Given the description of an element on the screen output the (x, y) to click on. 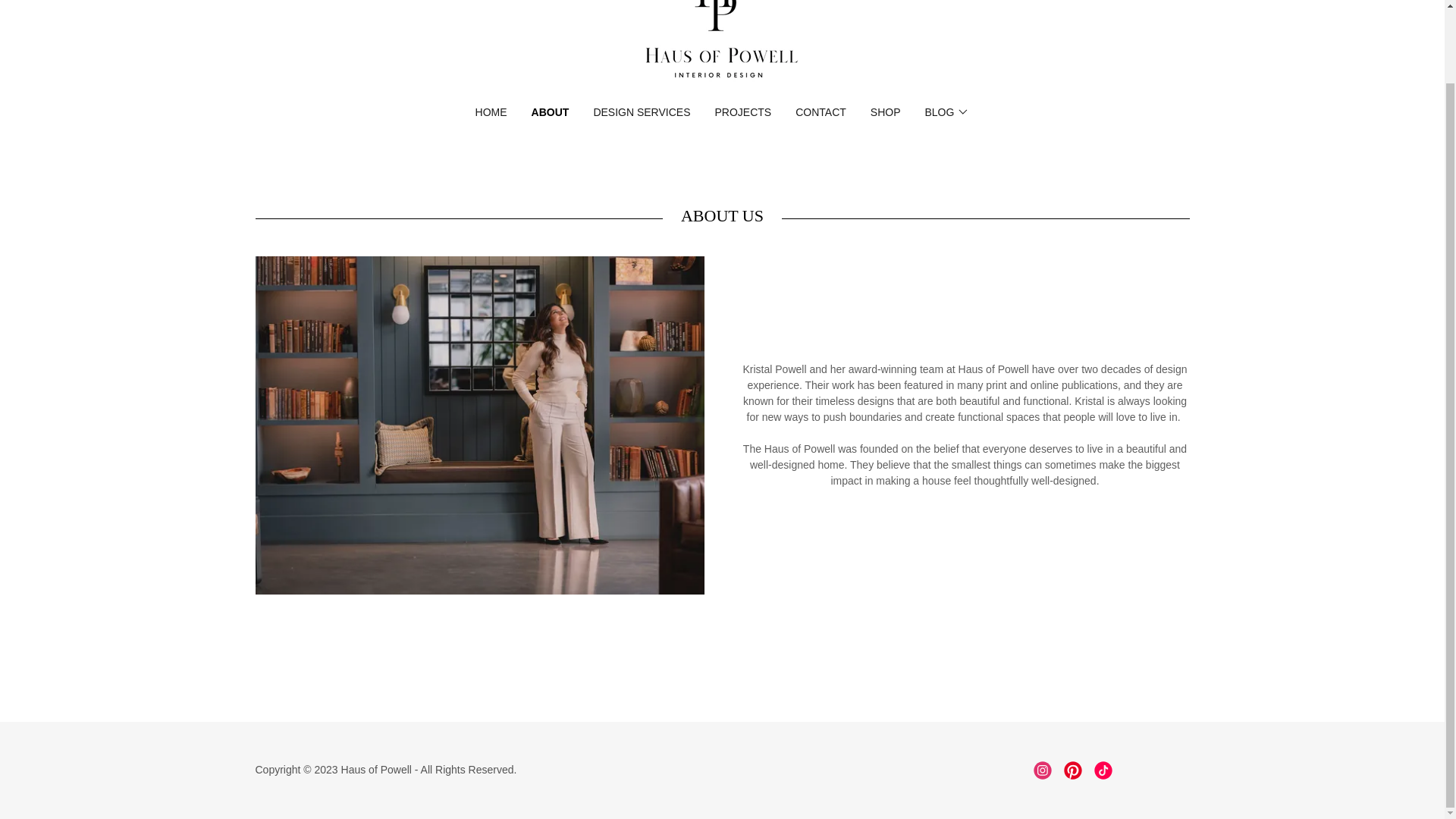
DESIGN SERVICES (641, 112)
SHOP (885, 112)
PROJECTS (743, 112)
CONTACT (820, 112)
HOME (491, 112)
ABOUT (550, 112)
BLOG (946, 112)
